Given the description of an element on the screen output the (x, y) to click on. 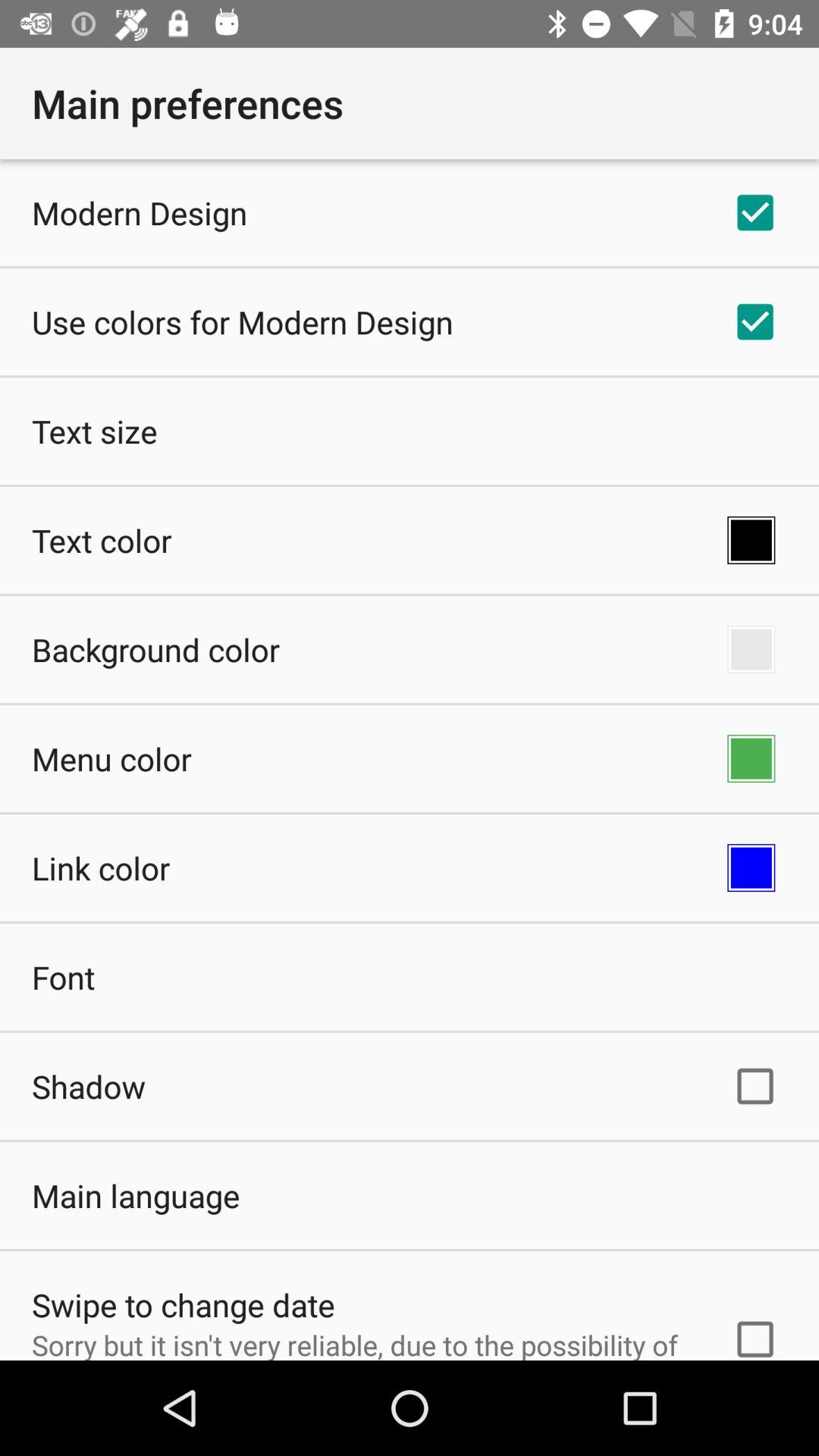
turn off the icon to the right of the background color (751, 649)
